Given the description of an element on the screen output the (x, y) to click on. 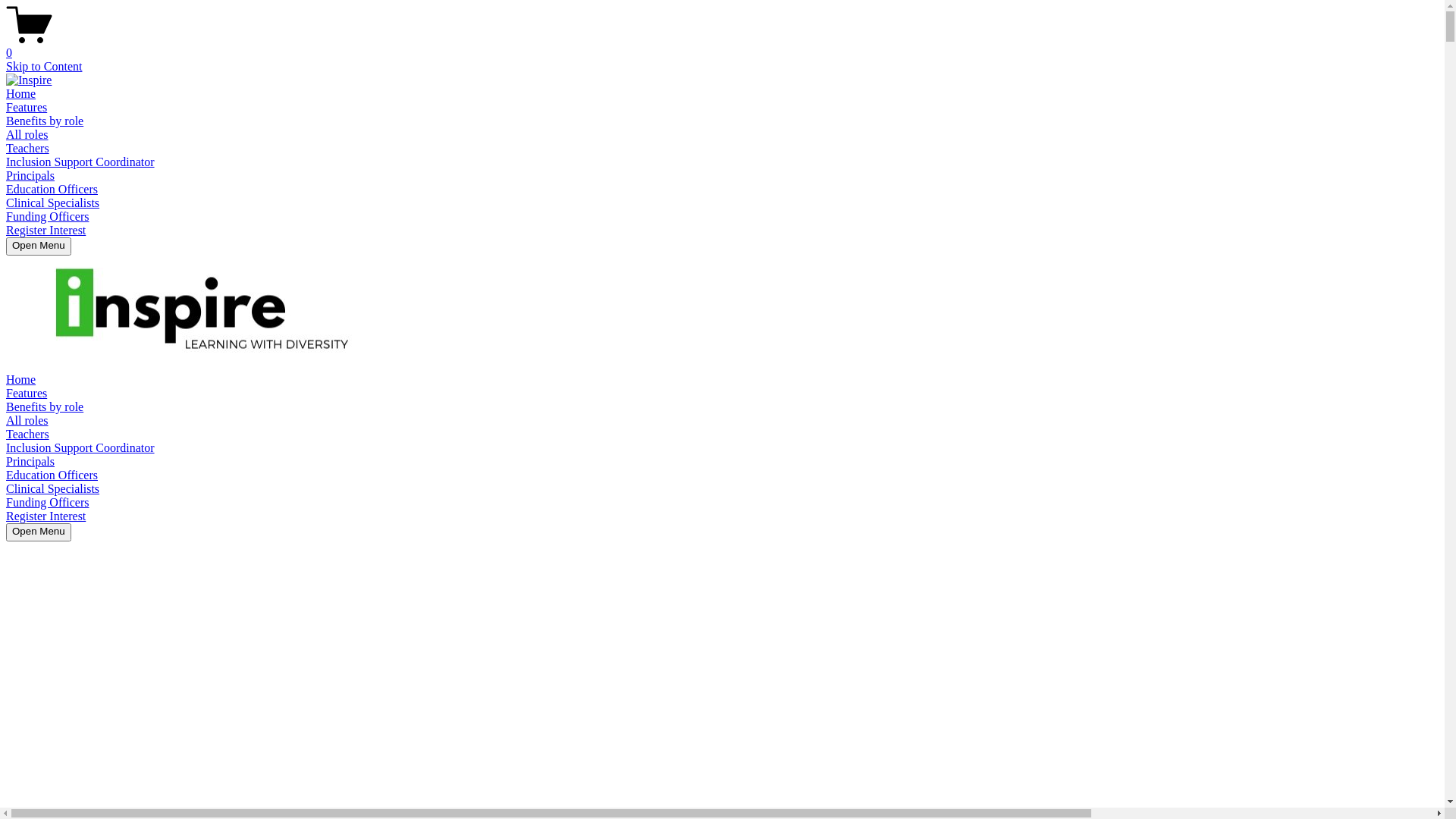
Home Element type: text (20, 379)
Open Menu Element type: text (38, 532)
Clinical Specialists Element type: text (52, 488)
Clinical Specialists Element type: text (52, 202)
Principals Element type: text (30, 175)
Benefits by role Element type: text (44, 406)
Inclusion Support Coordinator Element type: text (80, 447)
Education Officers Element type: text (51, 188)
Benefits by role Element type: text (44, 120)
Features Element type: text (26, 106)
All roles Element type: text (27, 420)
Inclusion Support Coordinator Element type: text (80, 161)
0 Element type: text (722, 45)
Register Interest Element type: text (45, 229)
All roles Element type: text (27, 134)
Funding Officers Element type: text (47, 501)
Funding Officers Element type: text (47, 216)
Education Officers Element type: text (51, 474)
Features Element type: text (26, 392)
Teachers Element type: text (27, 147)
Register Interest Element type: text (45, 515)
Home Element type: text (20, 93)
Teachers Element type: text (27, 433)
Principals Element type: text (30, 461)
Open Menu Element type: text (38, 246)
Skip to Content Element type: text (43, 65)
